Given the description of an element on the screen output the (x, y) to click on. 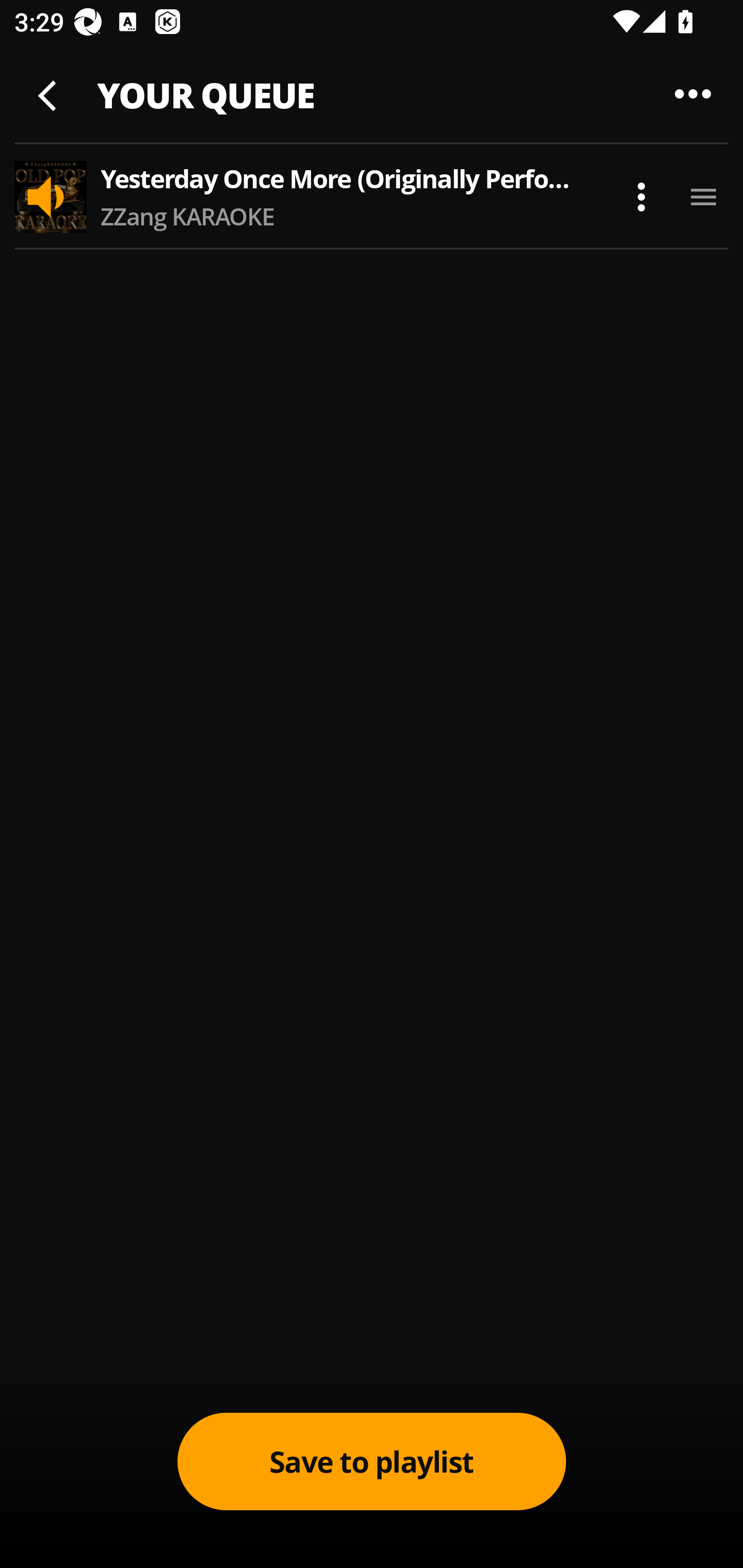
Yesterday Once More Cancel (371, 82)
Cancel (670, 82)
Minimise player (49, 93)
Accounts (647, 184)
Save to playlist (371, 1460)
